Given the description of an element on the screen output the (x, y) to click on. 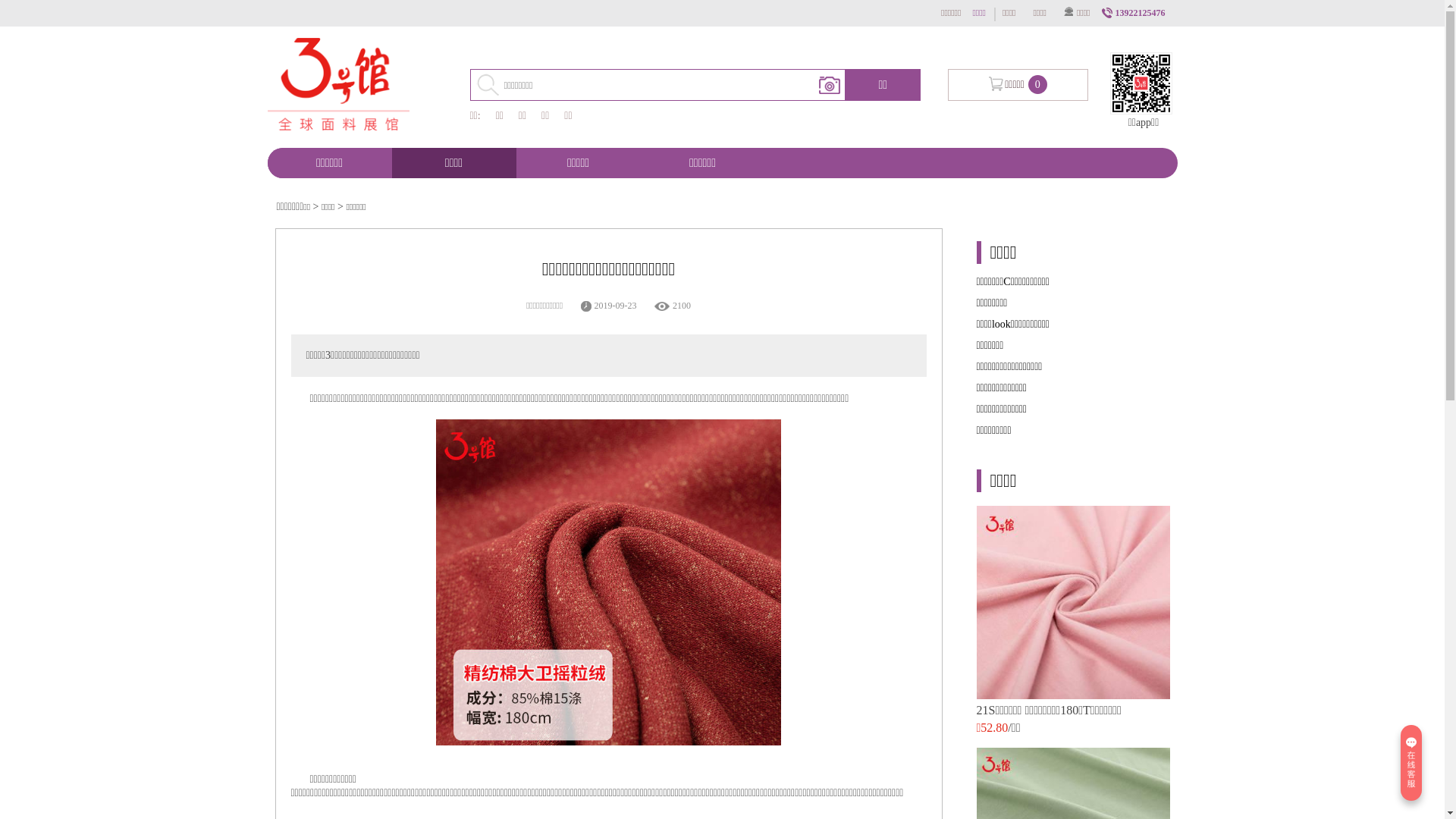
13922125476 Element type: text (1135, 12)
